Given the description of an element on the screen output the (x, y) to click on. 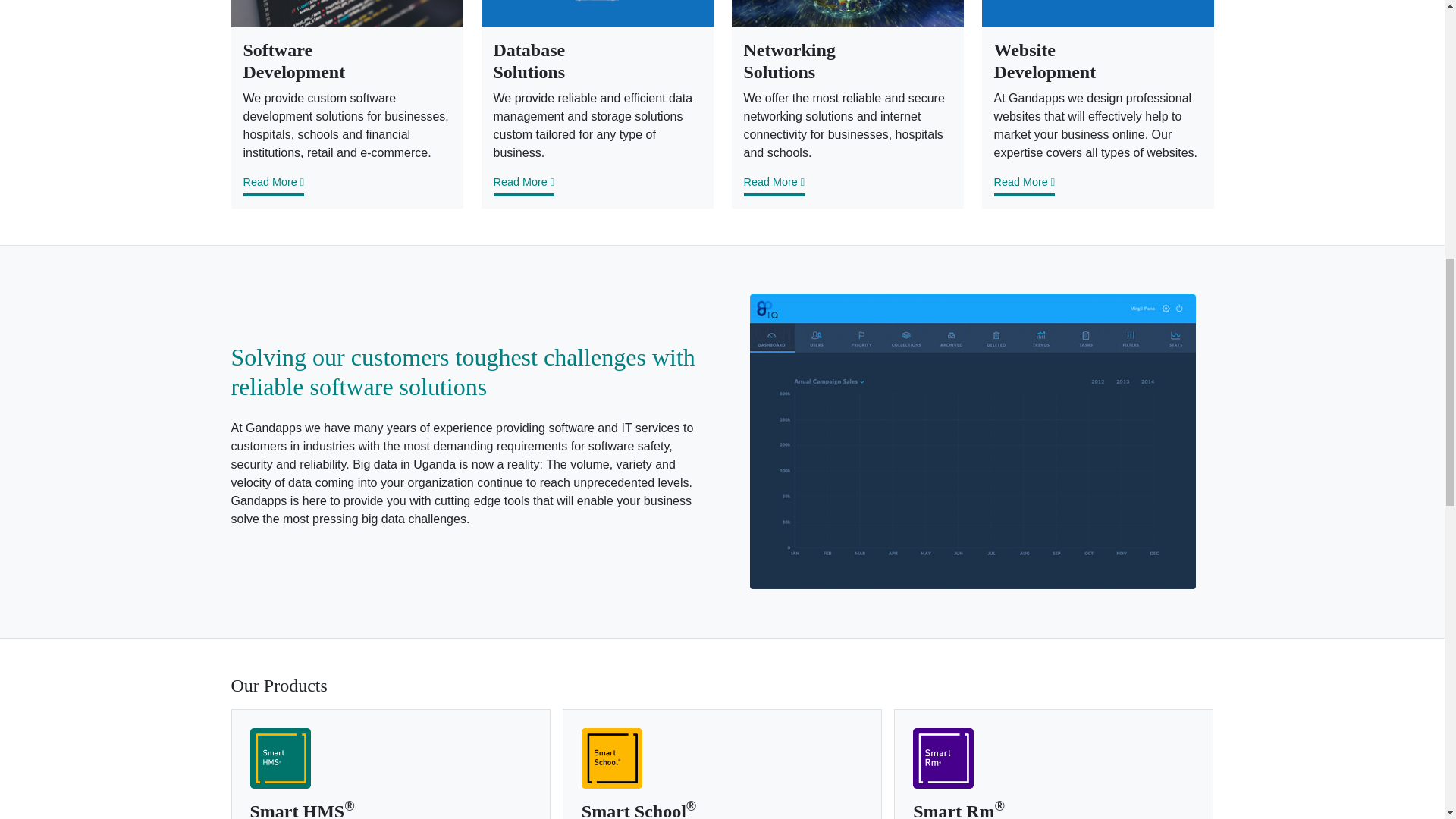
Read More (1023, 185)
Read More (523, 185)
Read More (272, 185)
Read More (772, 185)
